Given the description of an element on the screen output the (x, y) to click on. 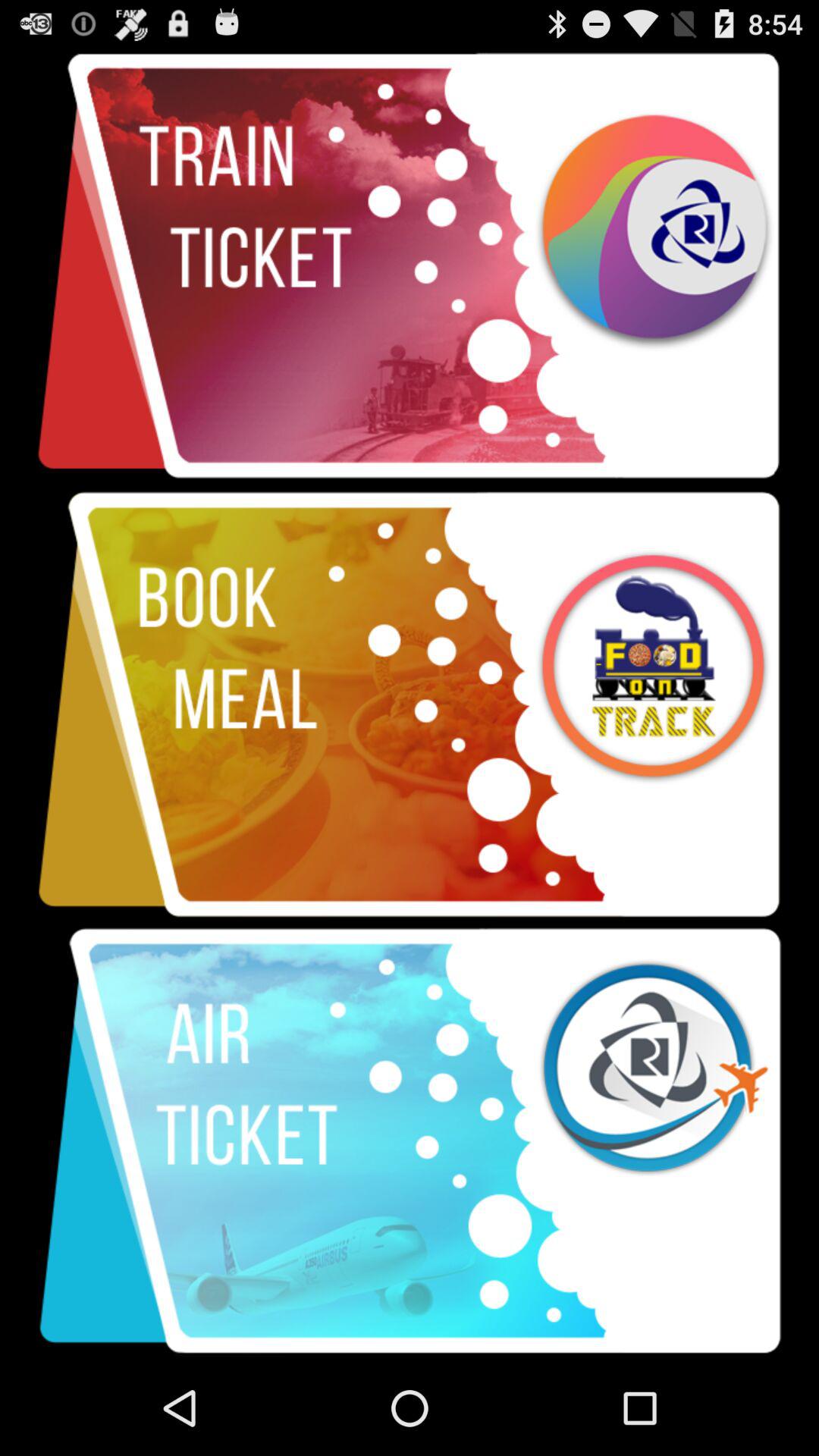
see air options (409, 1141)
